Given the description of an element on the screen output the (x, y) to click on. 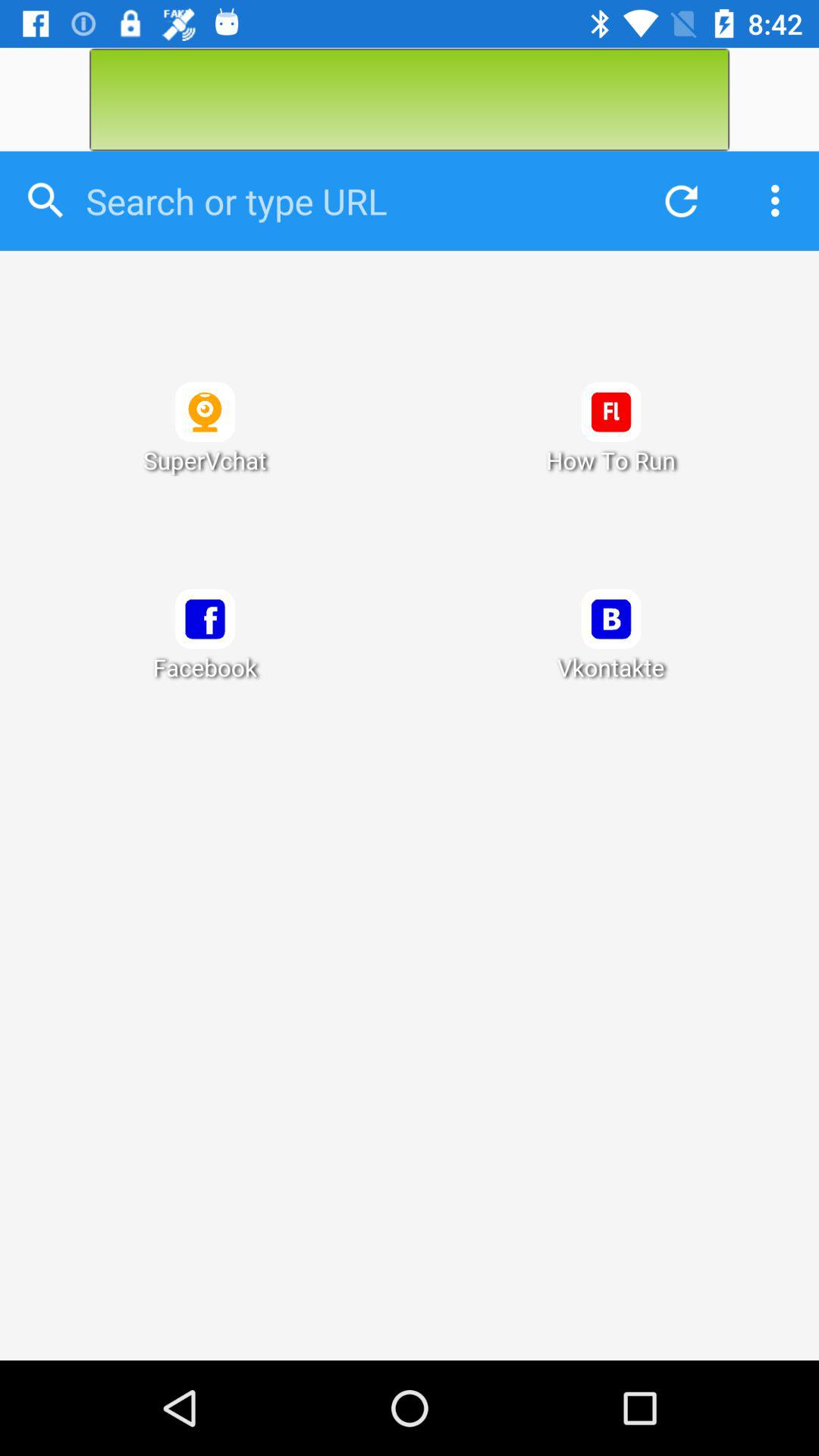
select reload (677, 200)
